Given the description of an element on the screen output the (x, y) to click on. 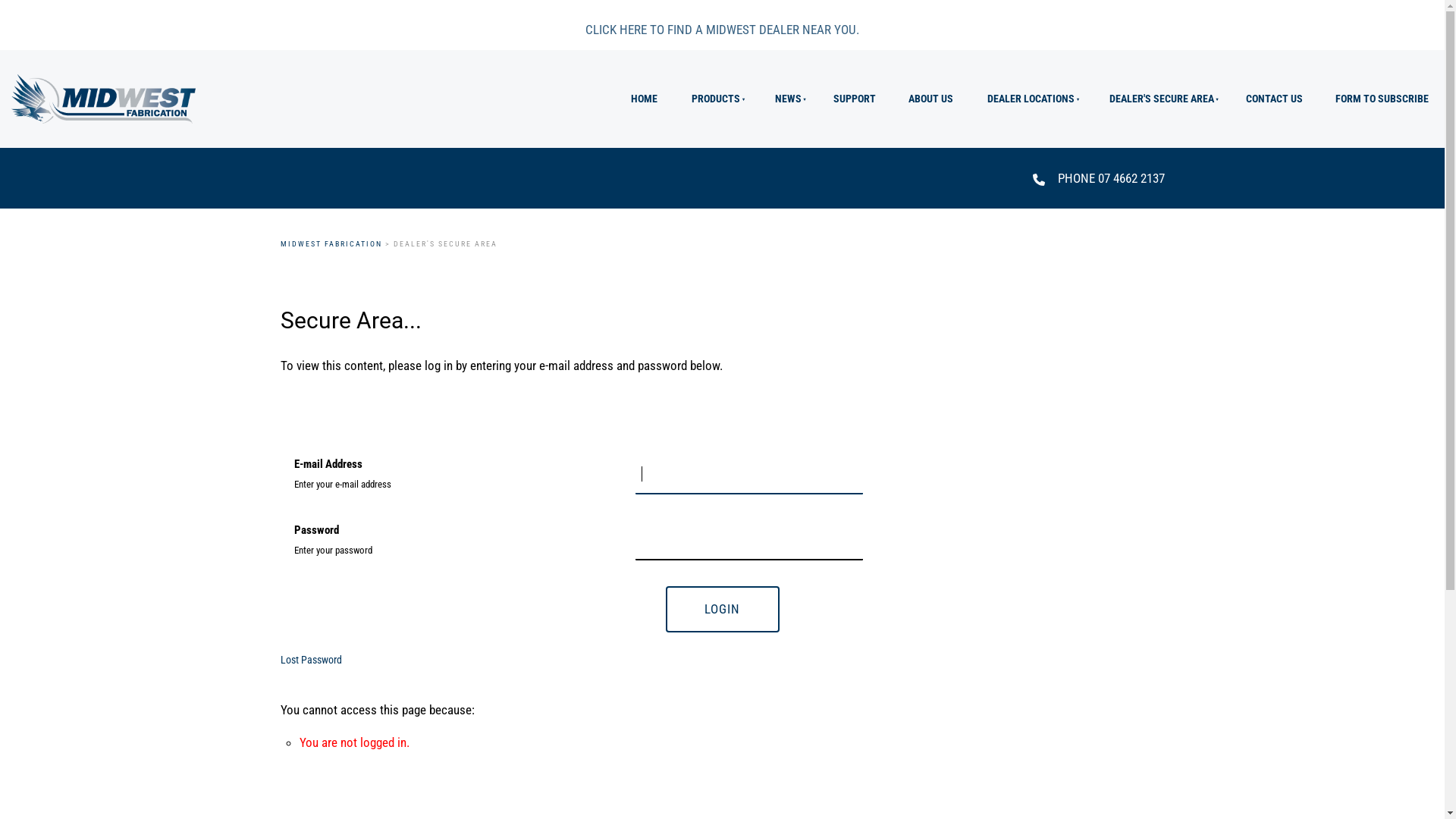
HOME Element type: text (643, 98)
ABOUT US Element type: text (930, 98)
NEWS Element type: text (787, 98)
PHONE 07 4662 2137 Element type: text (1110, 177)
CONTACT US Element type: text (1274, 98)
CLICK HERE TO FIND A MIDWEST DEALER NEAR YOU. Element type: text (722, 29)
FORM TO SUBSCRIBE Element type: text (1382, 98)
PRODUCTS Element type: text (714, 98)
DEALER'S SECURE AREA Element type: text (1160, 98)
MIDWEST FABRICATION Element type: text (331, 243)
Lost Password Element type: text (311, 659)
DEALER LOCATIONS Element type: text (1030, 98)
LOGIN Element type: text (722, 608)
SUPPORT Element type: text (854, 98)
